Given the description of an element on the screen output the (x, y) to click on. 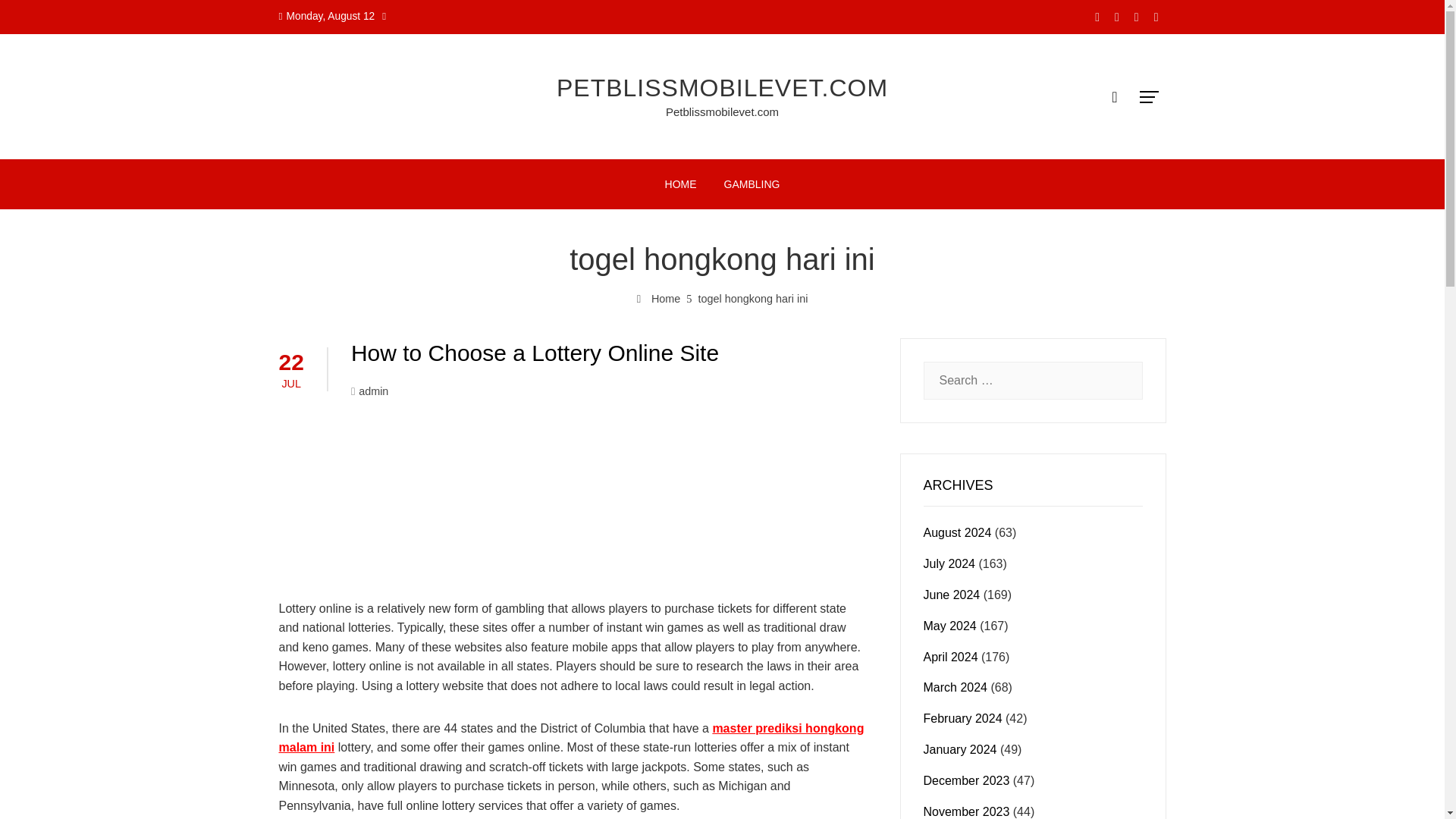
April 2024 (950, 656)
PETBLISSMOBILEVET.COM (722, 87)
December 2023 (966, 780)
HOME (680, 183)
May 2024 (949, 625)
Search (38, 18)
August 2024 (957, 532)
Home (659, 298)
June 2024 (951, 594)
Petblissmobilevet.com (721, 111)
